Given the description of an element on the screen output the (x, y) to click on. 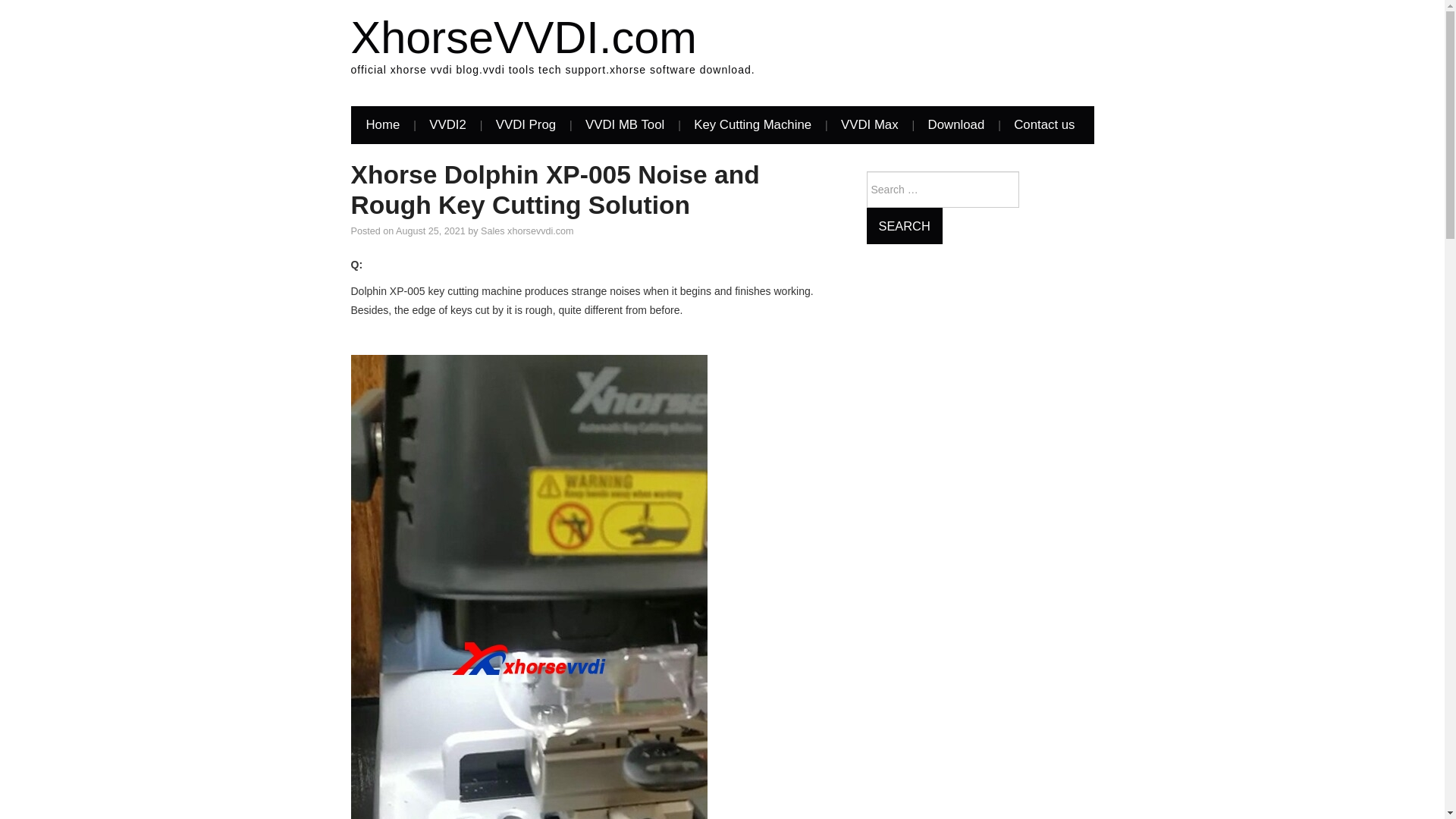
XhorseVVDI.com (522, 37)
VVDI MB Tool (624, 125)
Search (904, 226)
VVDI Prog (525, 125)
8:33 am (430, 231)
Download (956, 125)
Home (382, 125)
August 25, 2021 (430, 231)
Key Cutting Machine (752, 125)
